Given the description of an element on the screen output the (x, y) to click on. 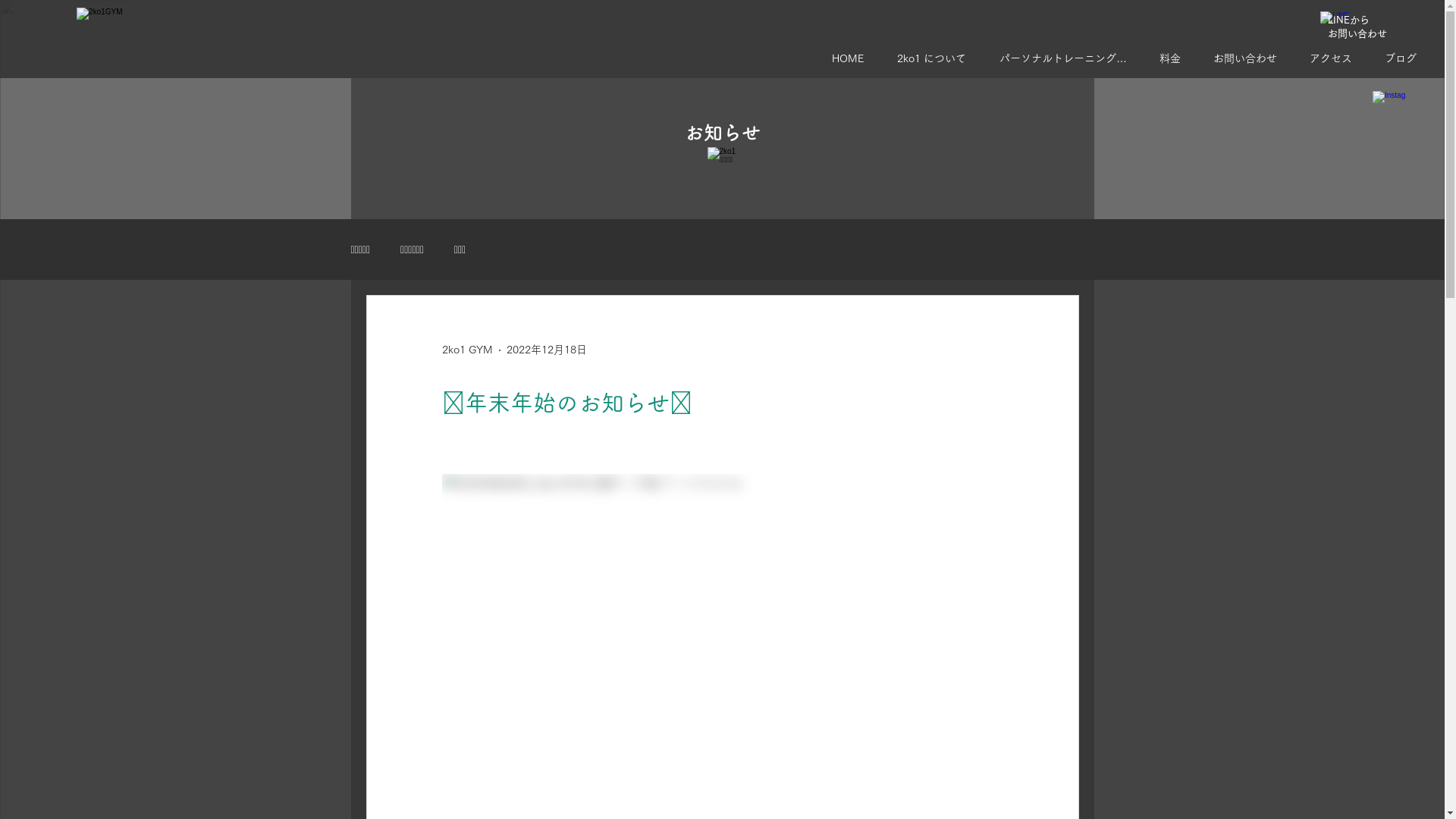
HOME Element type: text (852, 58)
